Given the description of an element on the screen output the (x, y) to click on. 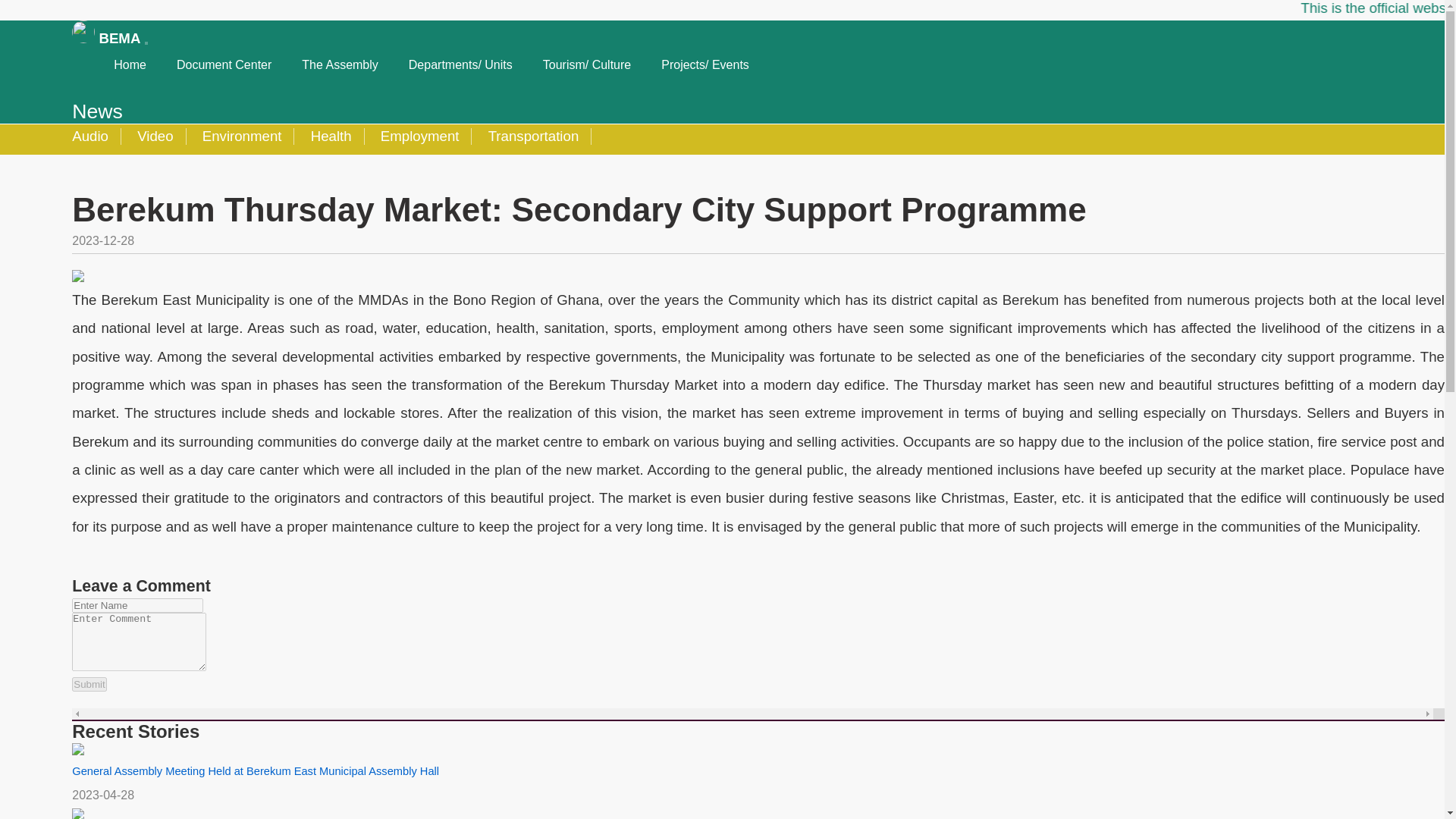
Home (145, 64)
Document Center (239, 64)
The Assembly (354, 64)
Audio (95, 135)
Environment (242, 135)
Submit (88, 684)
Employment (419, 135)
Berekum East Municipal Assembly (107, 37)
Submit (88, 684)
BEMA (107, 37)
Video (155, 135)
Health (331, 135)
Transportation (534, 135)
Archives (79, 92)
